Given the description of an element on the screen output the (x, y) to click on. 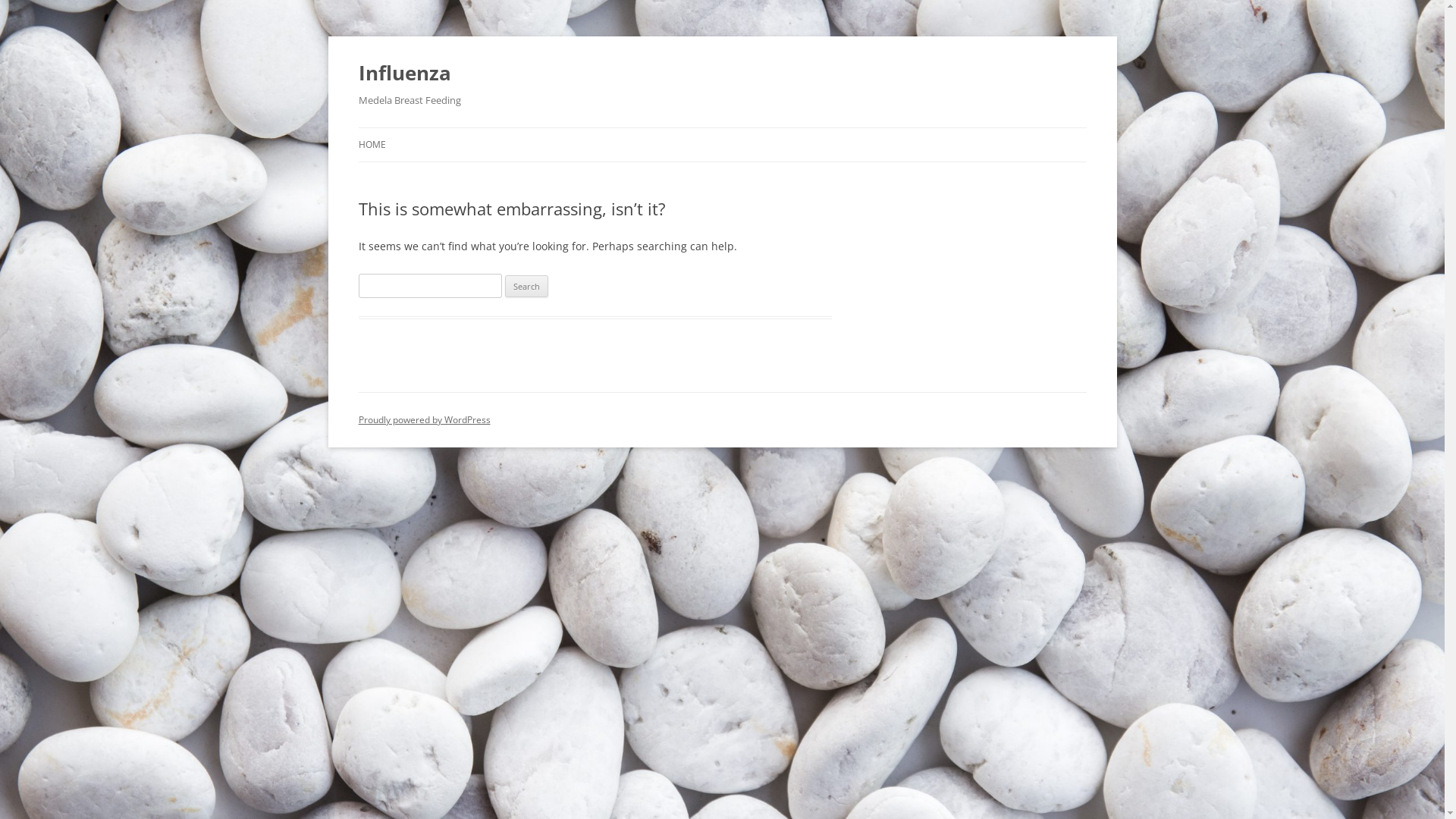
Skip to content Element type: text (721, 127)
Influenza Element type: text (403, 72)
Search Element type: text (526, 286)
Proudly powered by WordPress Element type: text (423, 419)
HOME Element type: text (371, 144)
